Given the description of an element on the screen output the (x, y) to click on. 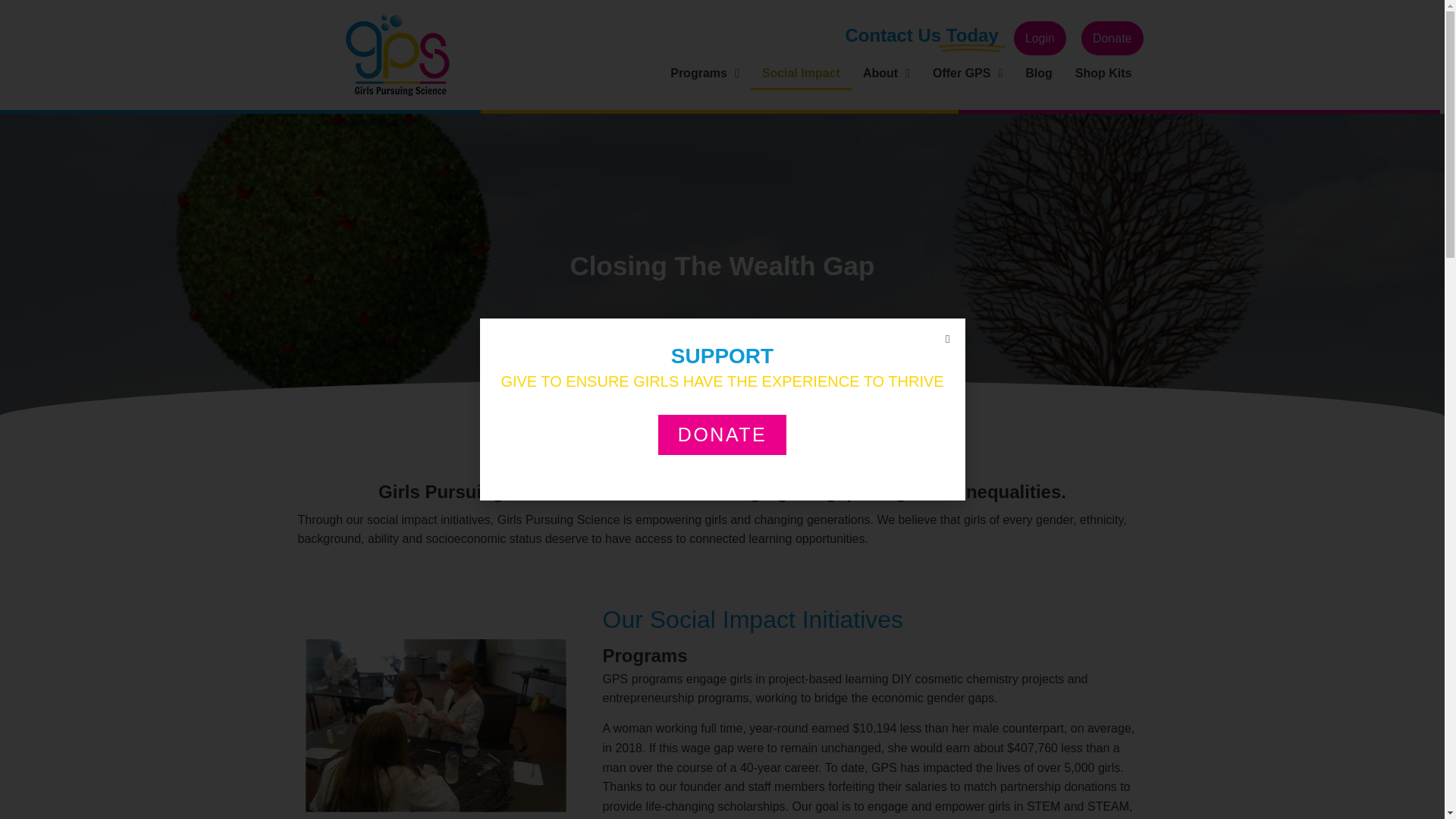
Login (1039, 38)
Offer GPS (967, 72)
Contact Us Today (920, 34)
Shop Kits (1103, 72)
About (886, 72)
Programs (705, 72)
Blog (1038, 72)
Social Impact (801, 72)
Donate (1111, 38)
